Given the description of an element on the screen output the (x, y) to click on. 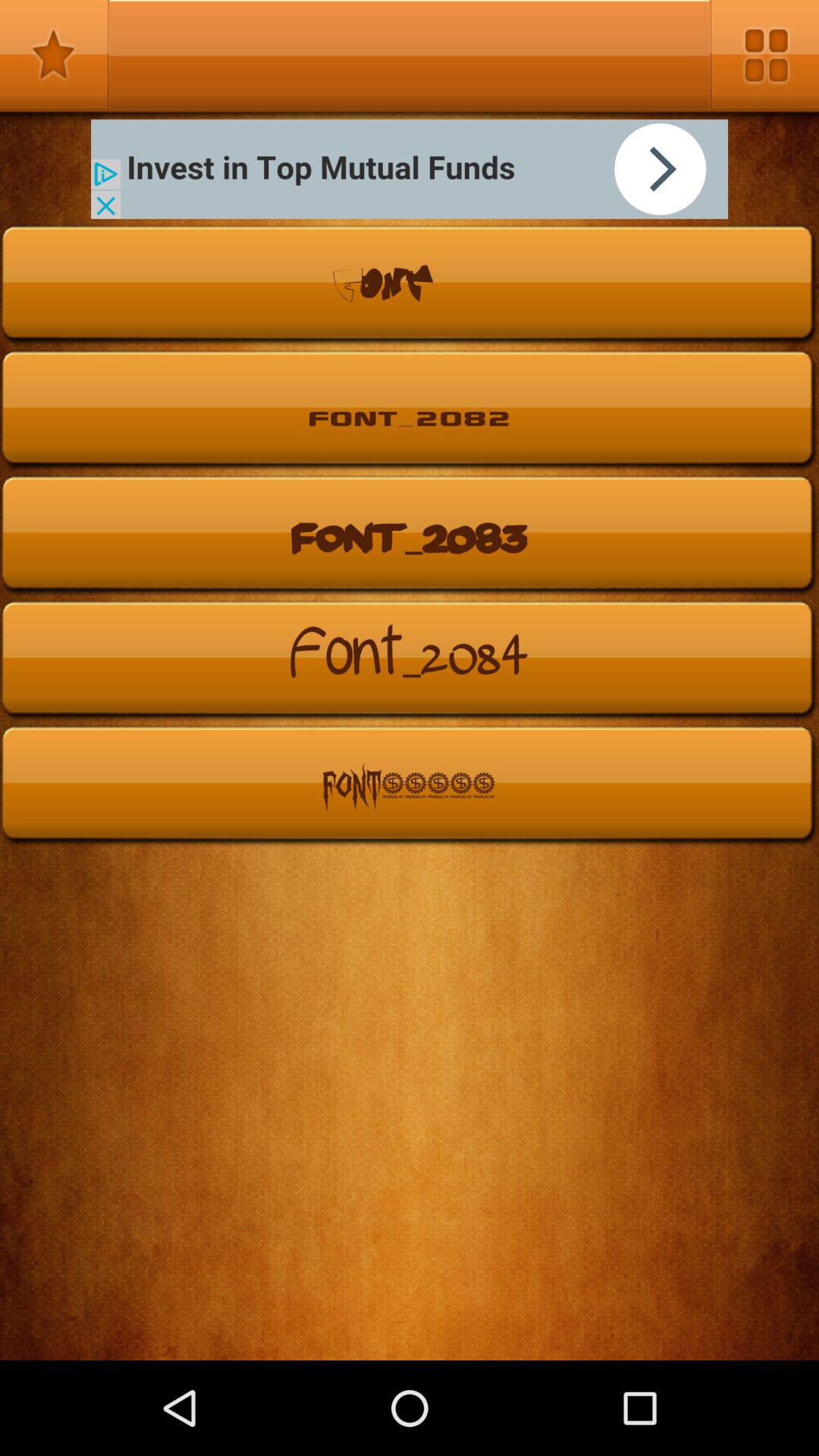
favorite (54, 54)
